Given the description of an element on the screen output the (x, y) to click on. 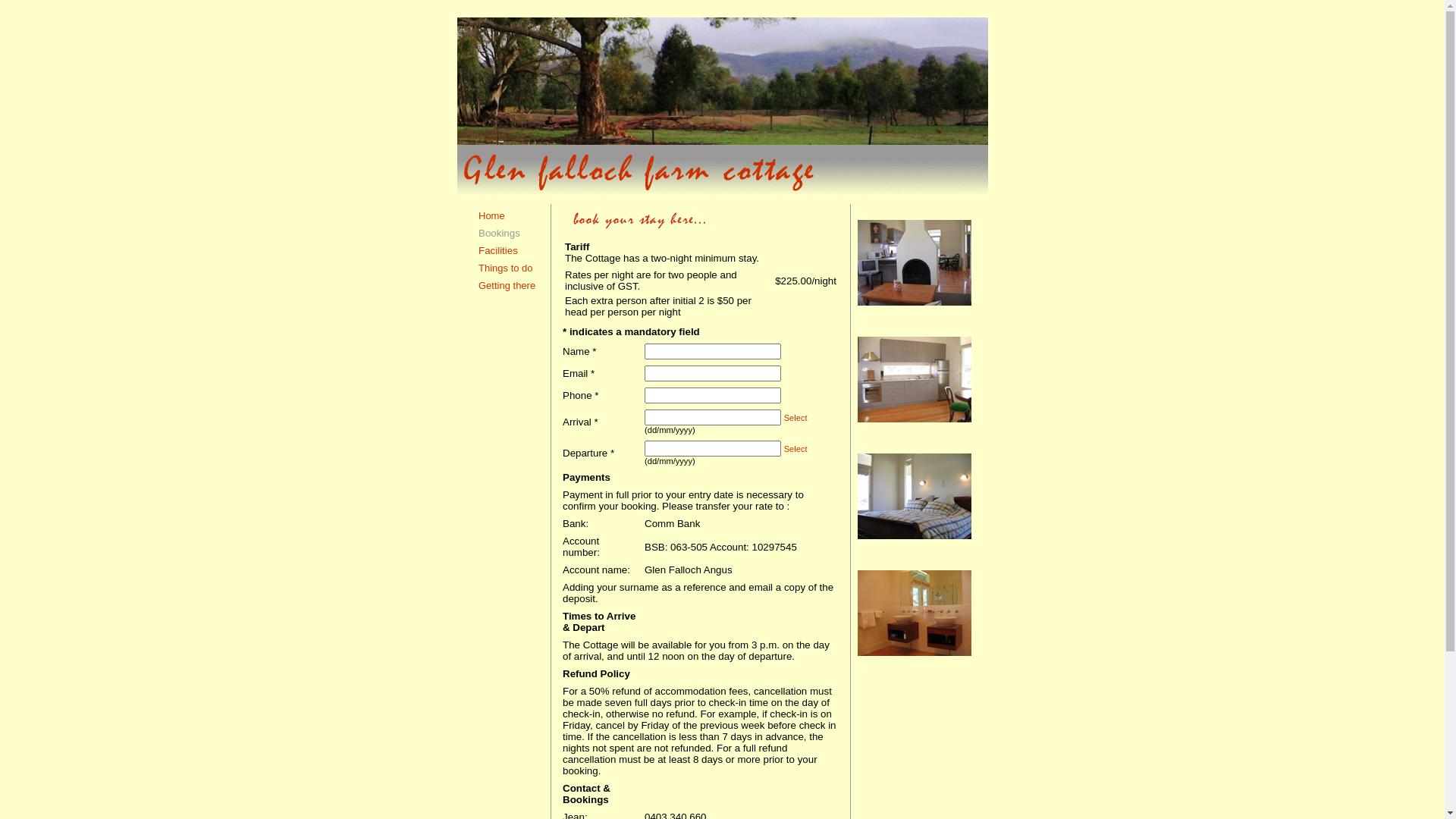
Facilities Element type: text (497, 250)
Select Element type: text (795, 448)
Select Element type: text (795, 417)
Getting there Element type: text (506, 285)
Things to do Element type: text (505, 267)
Home Element type: text (491, 215)
